Given the description of an element on the screen output the (x, y) to click on. 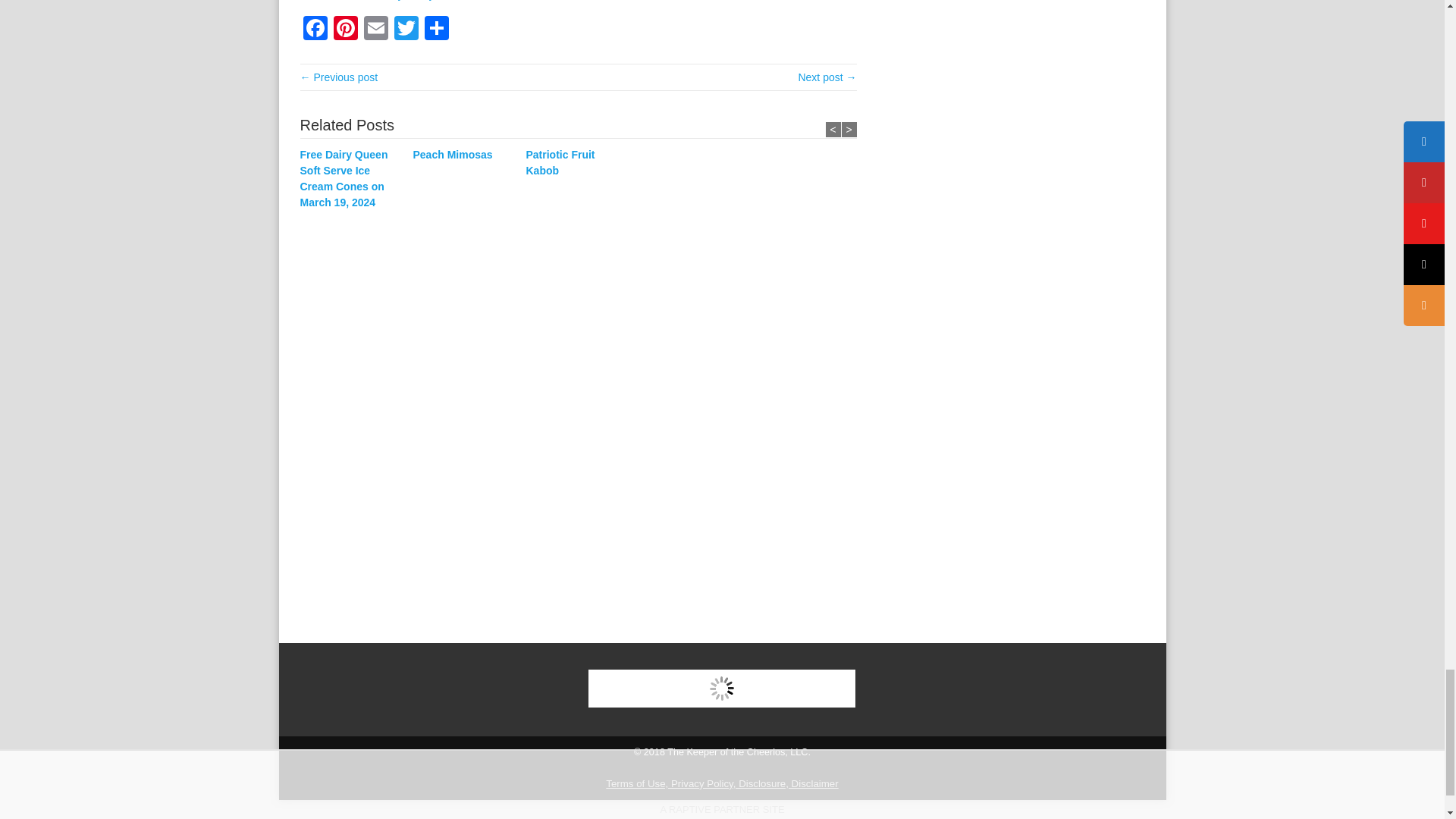
Email (376, 29)
Pinterest (345, 29)
Twitter (406, 29)
Farm Animal Rock Garden (826, 77)
Pinterest (345, 29)
Twitter (406, 29)
Facebook (314, 29)
Trolls Birthday Party (338, 77)
Patriotic Fruit Kabob (577, 163)
Share (436, 29)
Peach Mimosas (464, 154)
